Given the description of an element on the screen output the (x, y) to click on. 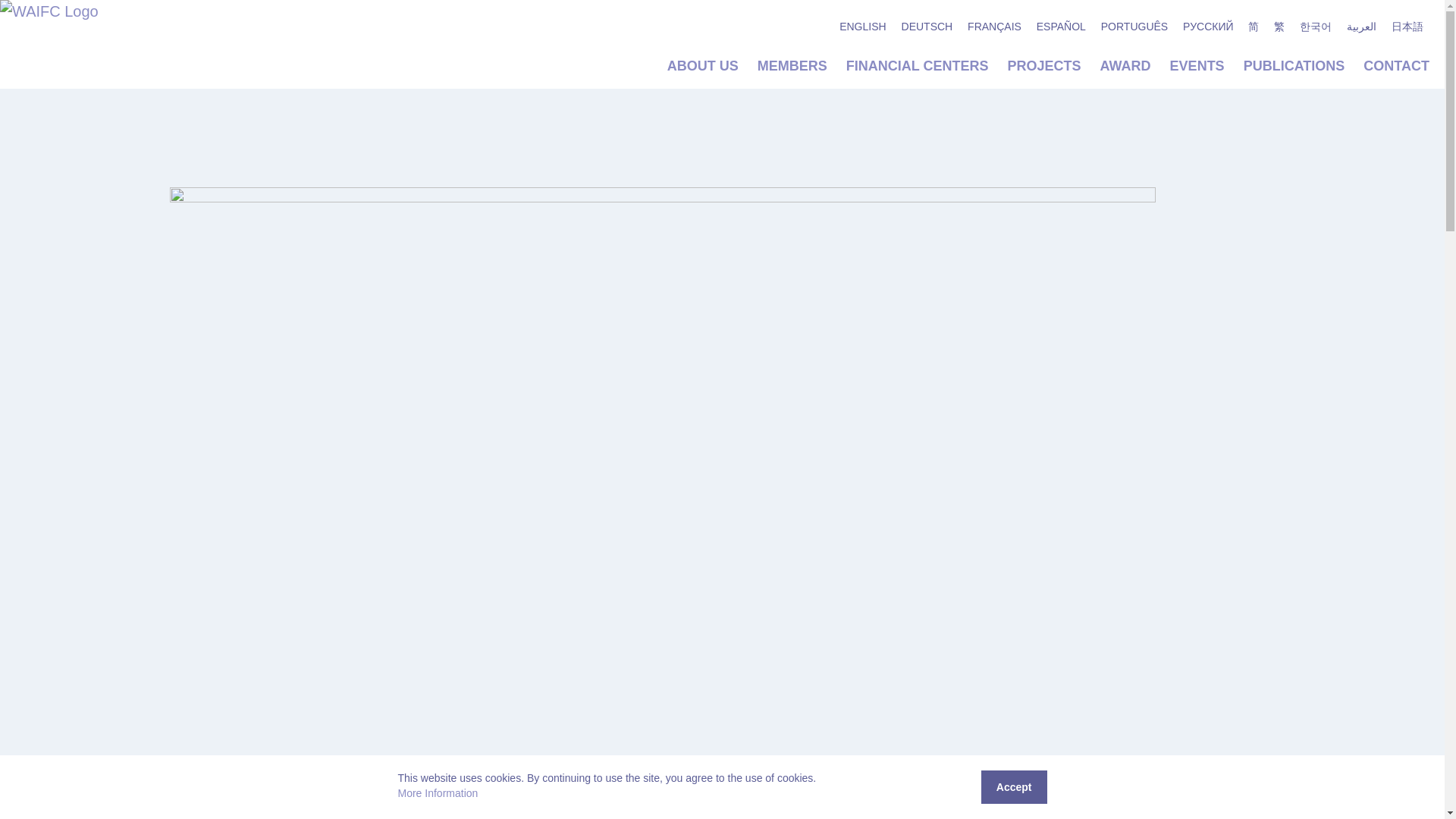
ABOUT US (702, 64)
ENGLISH (862, 25)
More Information (437, 793)
CONTACT (1395, 64)
AWARD (1125, 64)
PROJECTS (1044, 64)
DEUTSCH (927, 25)
FINANCIAL CENTERS (916, 64)
EVENTS (1197, 64)
Accept (1013, 786)
PUBLICATIONS (1294, 64)
MEMBERS (792, 64)
